Given the description of an element on the screen output the (x, y) to click on. 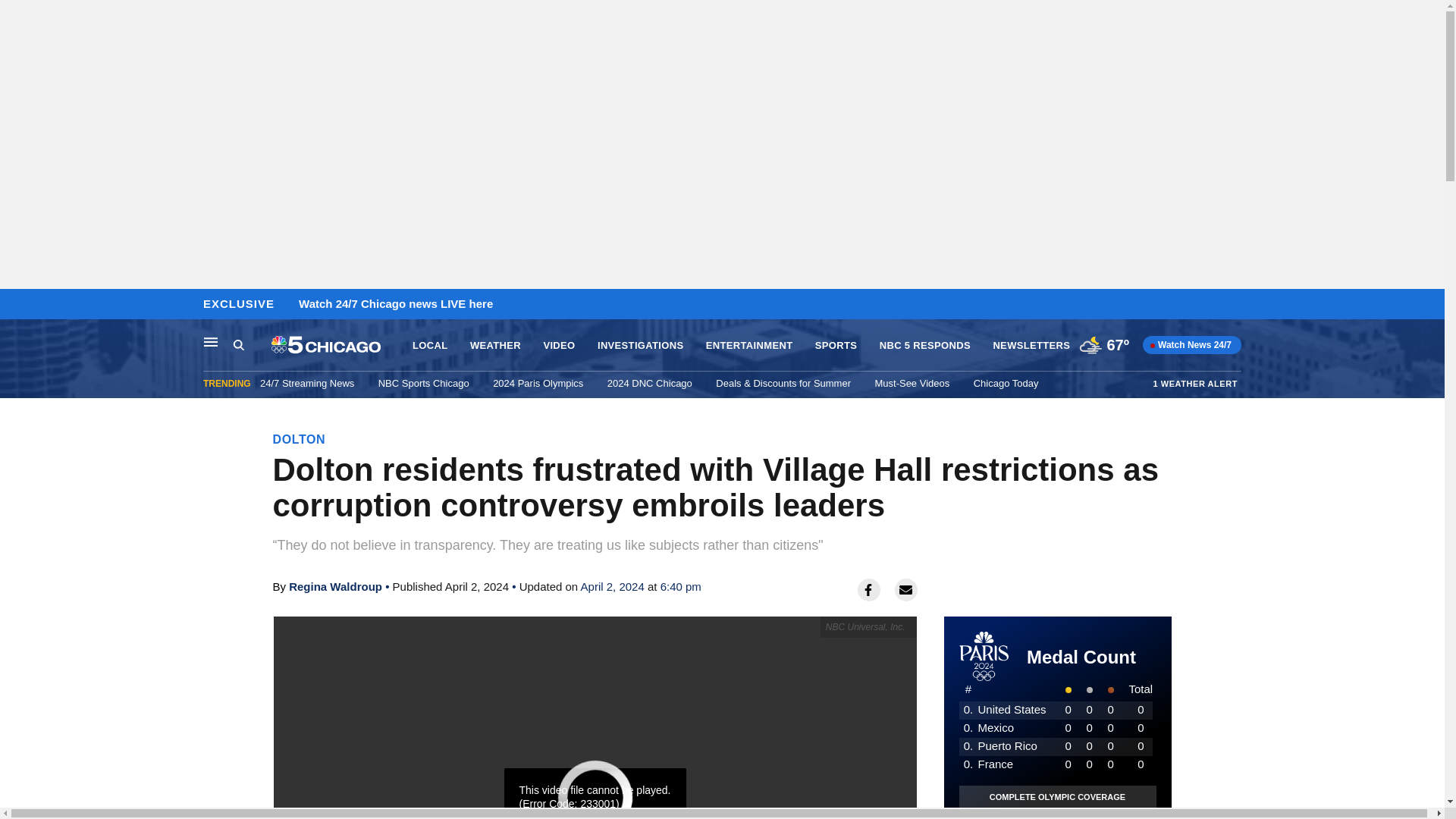
NBC 5 RESPONDS (925, 345)
Search (238, 344)
Search (252, 345)
Must-See Videos (912, 383)
2024 DNC Chicago (650, 383)
1 WEATHER ALERT (1195, 383)
Regina Waldroup (334, 585)
INVESTIGATIONS (639, 345)
WEATHER (495, 345)
DOLTON (299, 439)
SPORTS (836, 345)
NBC Sports Chicago (423, 383)
VIDEO (559, 345)
Skip to content (16, 304)
Main Navigation (210, 341)
